Given the description of an element on the screen output the (x, y) to click on. 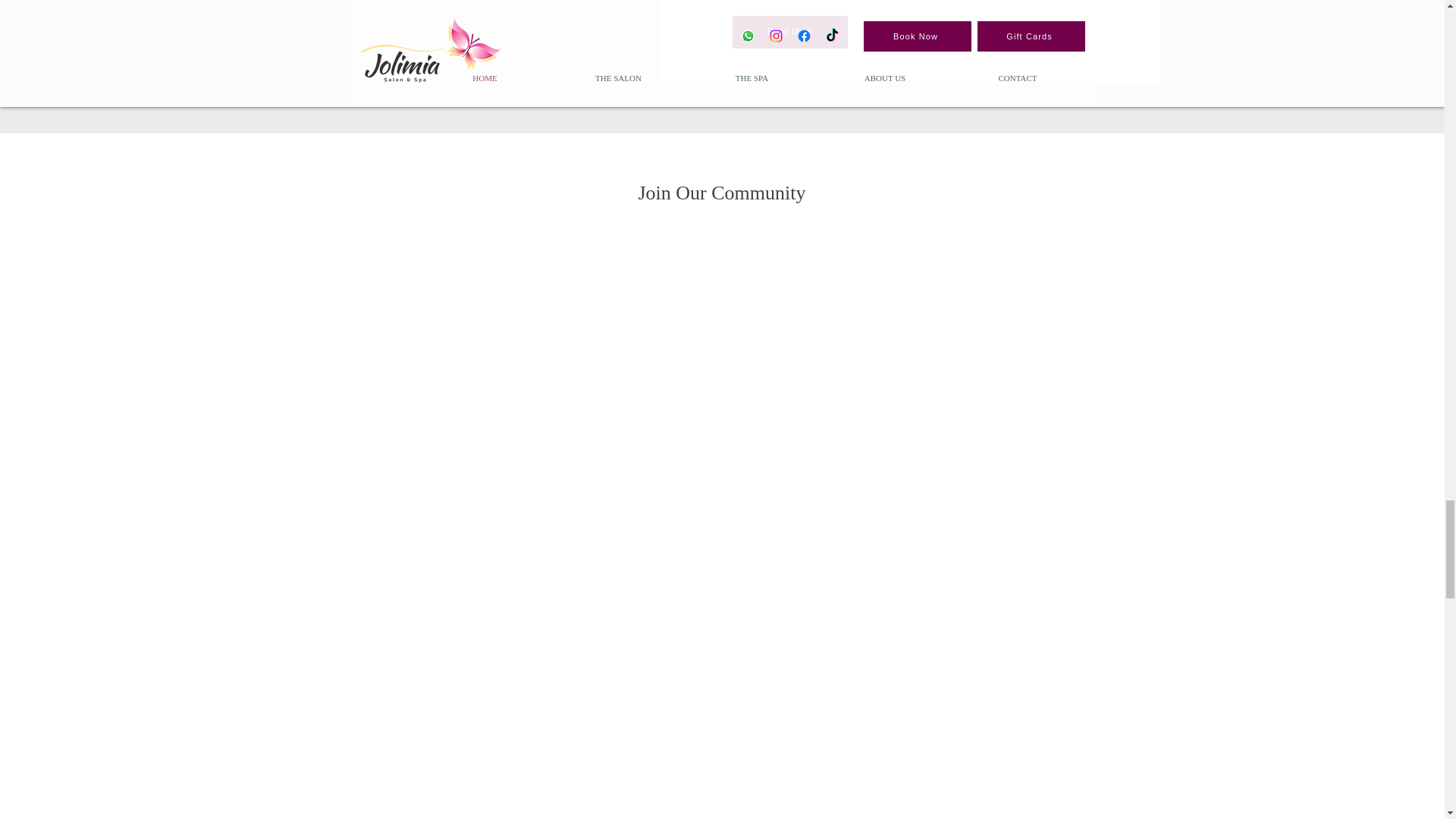
Read More (789, 31)
